Given the description of an element on the screen output the (x, y) to click on. 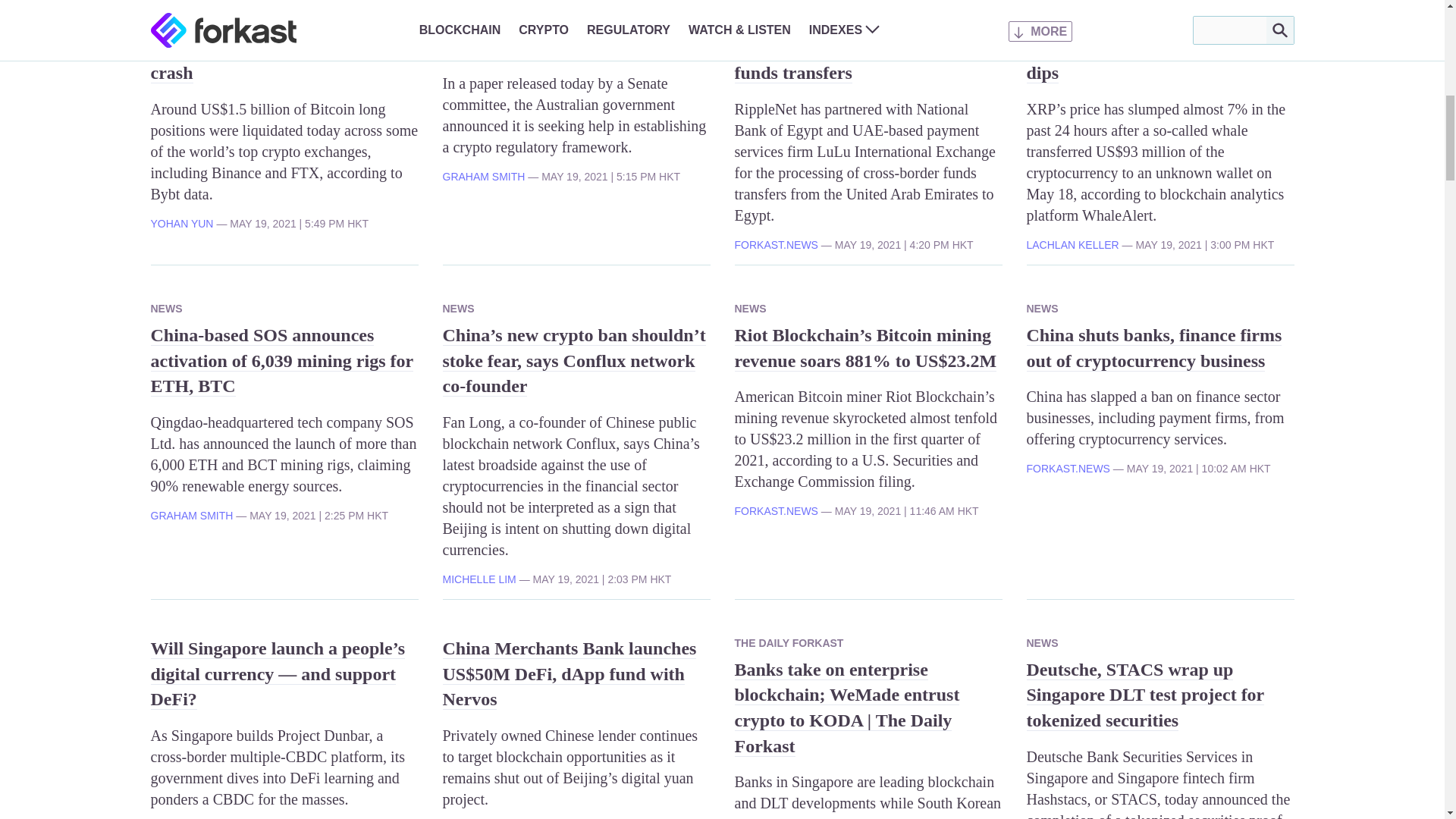
Posts by Forkast.News (774, 244)
Posts by Yohan Yun (180, 223)
Posts by Lachlan Keller (1072, 244)
Posts by Graham Smith (190, 515)
Posts by Forkast.News (774, 510)
Posts by Forkast.News (1067, 468)
Posts by Michelle Lim (479, 579)
Posts by Graham Smith (483, 176)
